Given the description of an element on the screen output the (x, y) to click on. 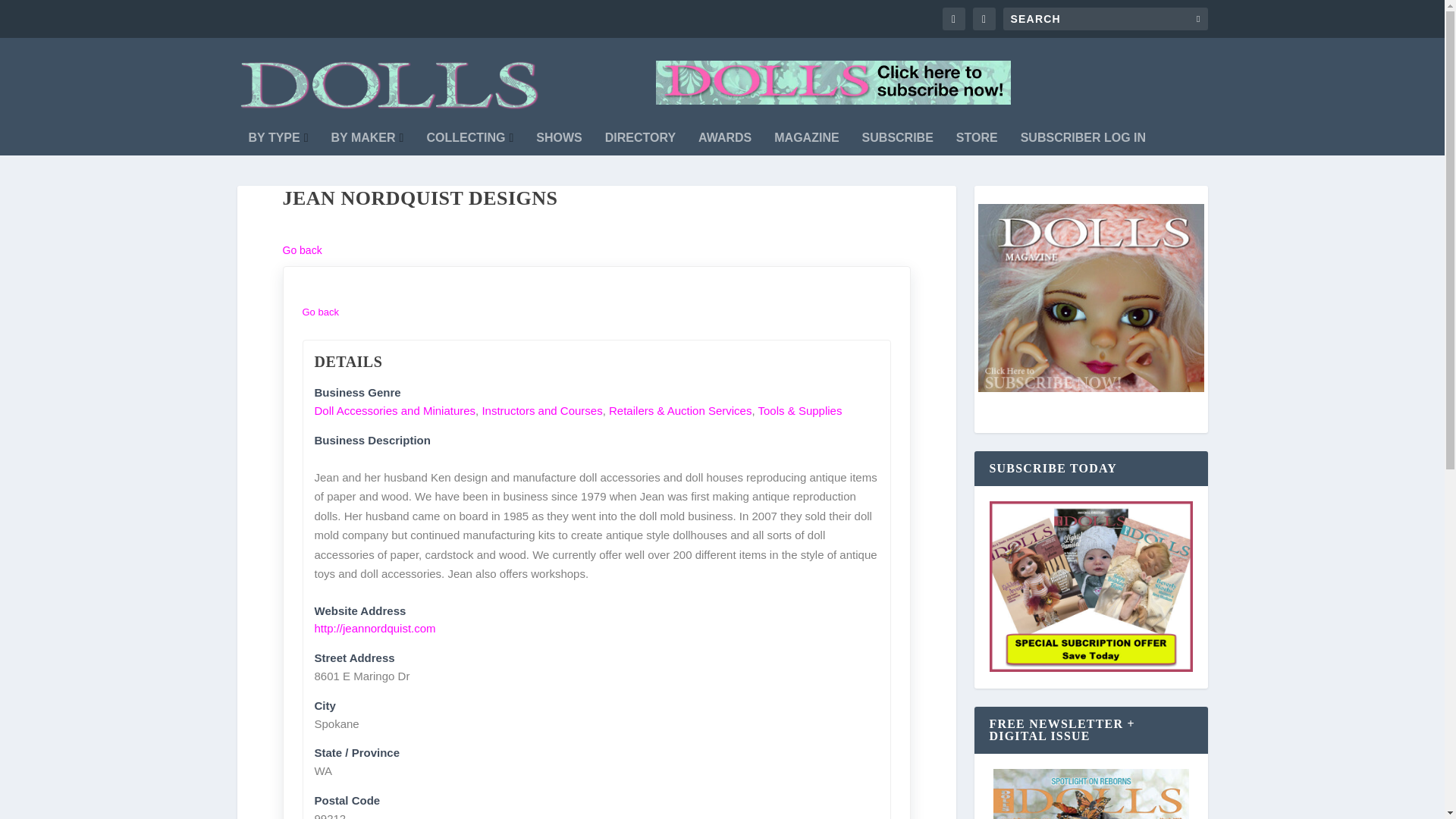
BY TYPE (278, 143)
DIRECTORY (640, 143)
COLLECTING (469, 143)
Search for: (1105, 18)
SHOWS (557, 143)
BY MAKER (367, 143)
Doll Show Calendar (557, 143)
